Given the description of an element on the screen output the (x, y) to click on. 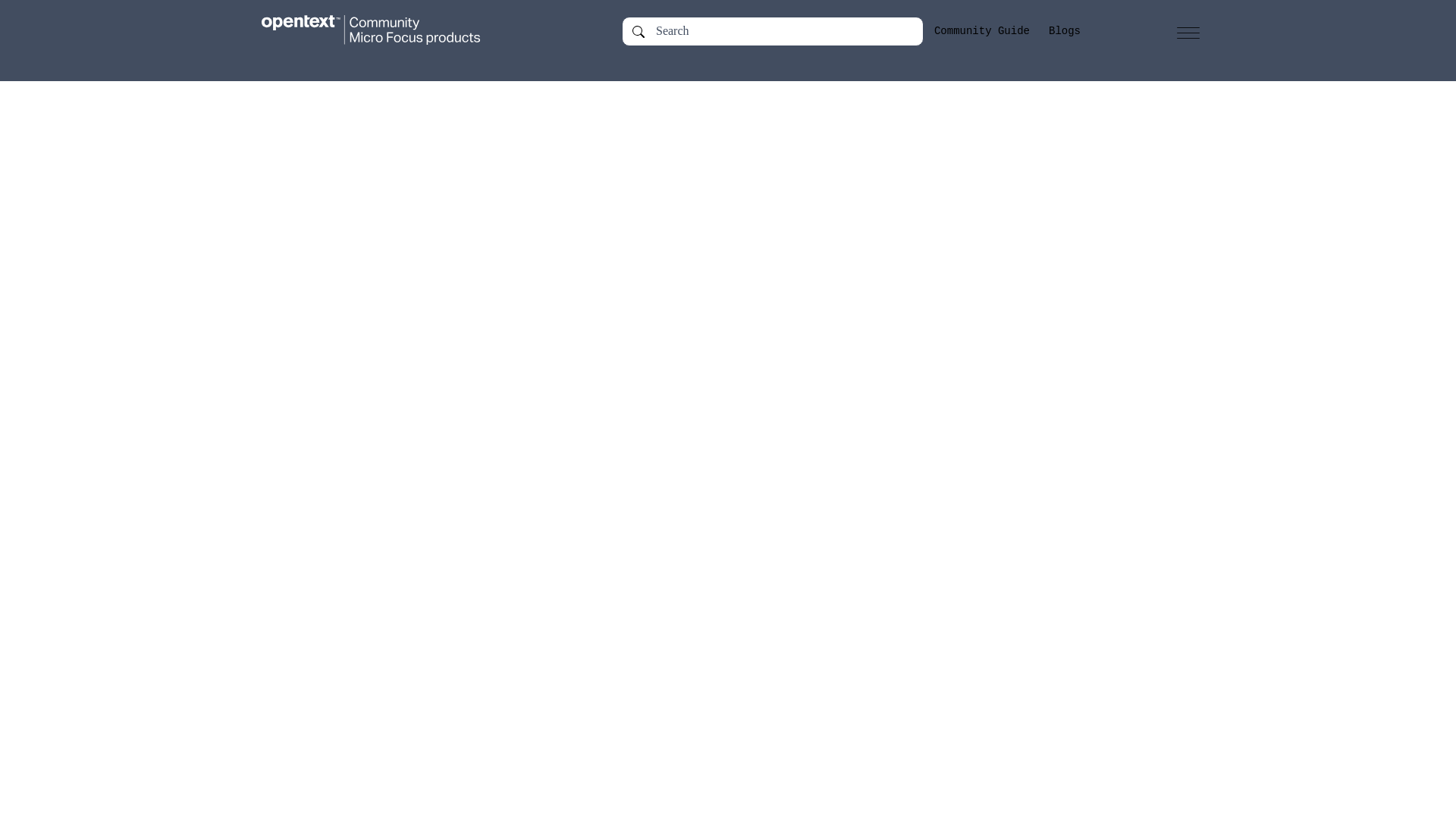
Community Guide (981, 31)
Home (385, 30)
Blogs (1064, 31)
